Given the description of an element on the screen output the (x, y) to click on. 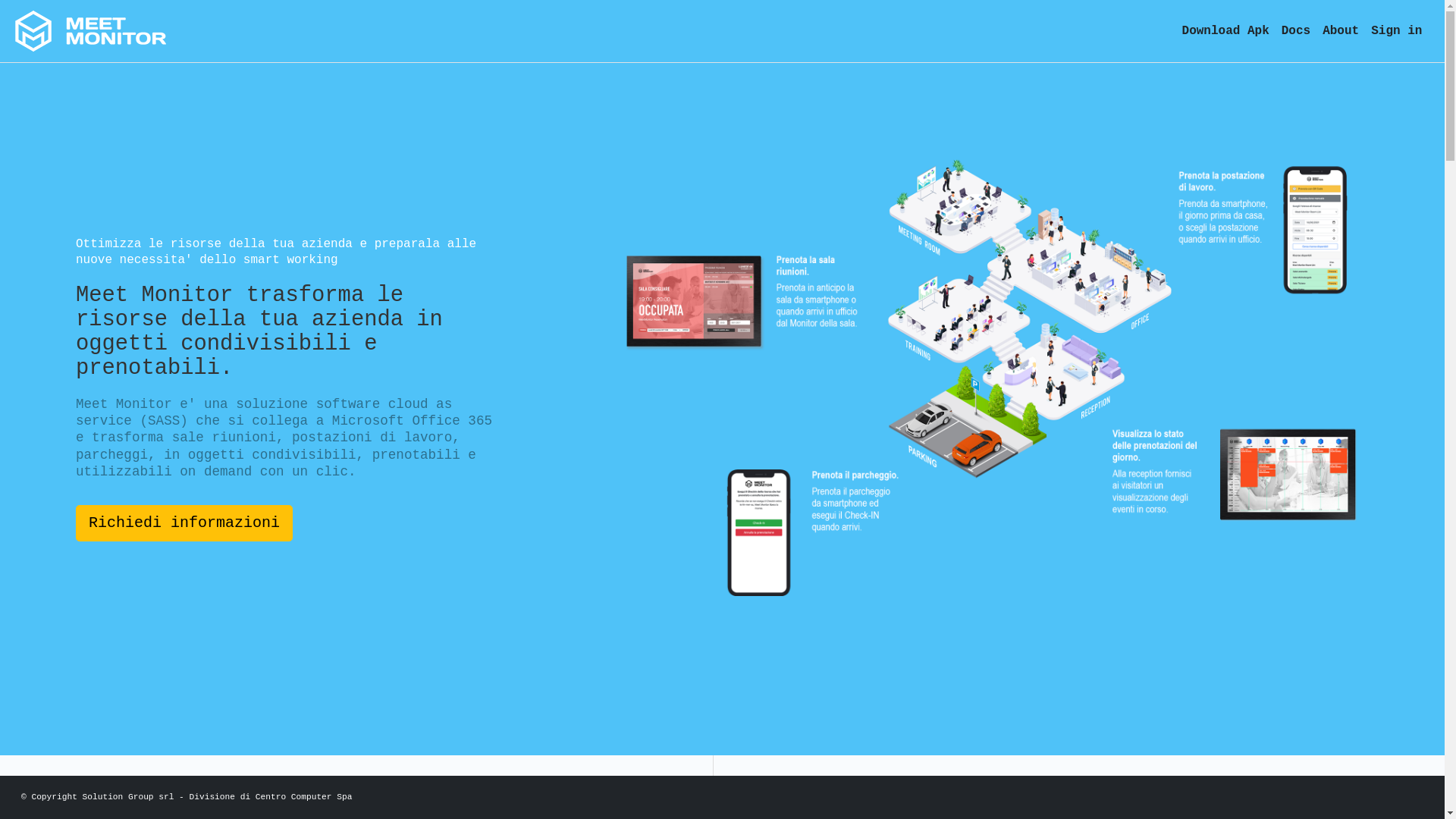
Richiedi informazioni Element type: text (183, 523)
About Element type: text (1340, 30)
Download Apk Element type: text (1225, 30)
Docs Element type: text (1295, 30)
Sign in  Element type: text (1400, 30)
